Given the description of an element on the screen output the (x, y) to click on. 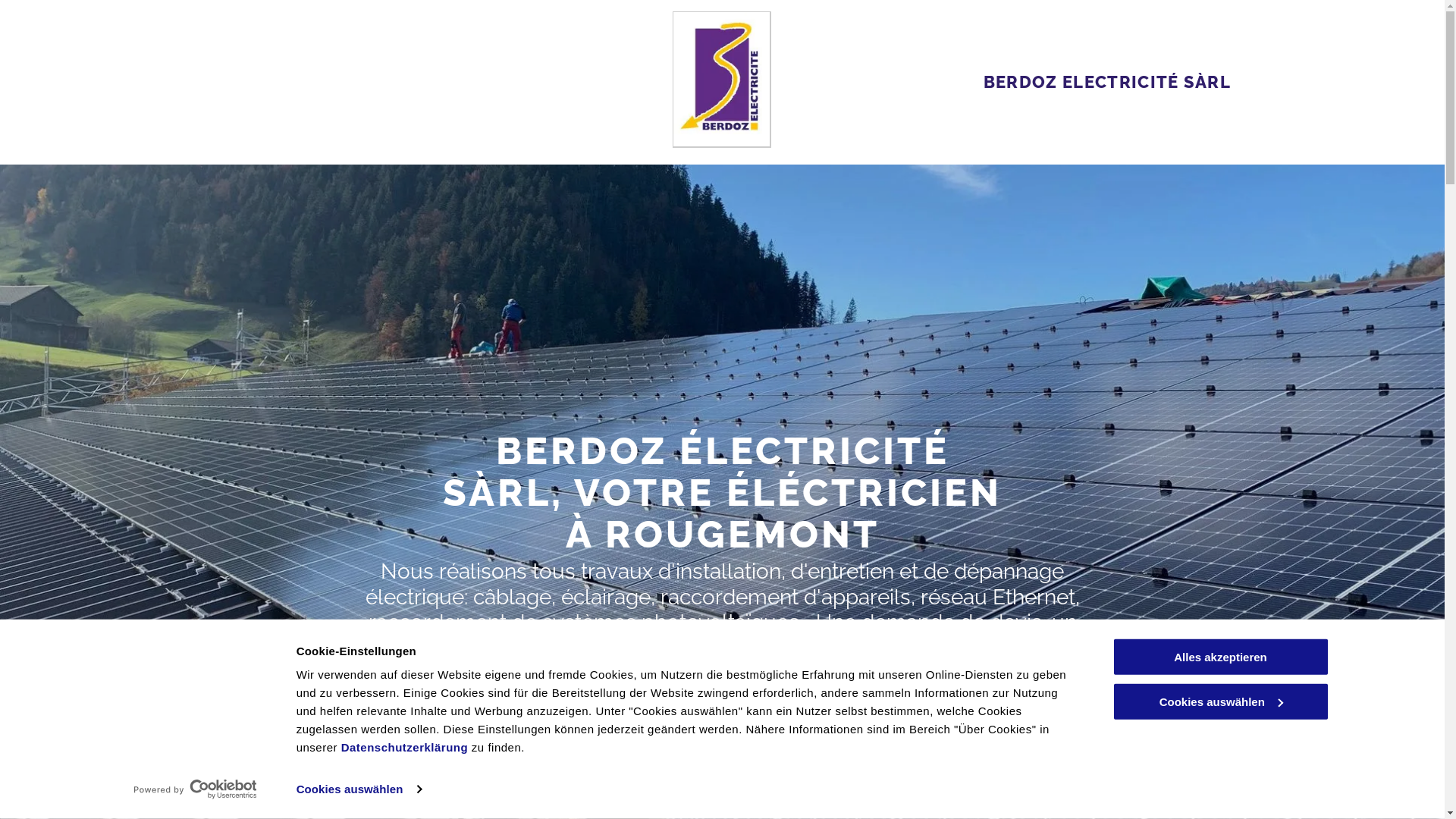
026 925 84 55 Element type: text (722, 713)
Alles akzeptieren Element type: text (1219, 656)
